Given the description of an element on the screen output the (x, y) to click on. 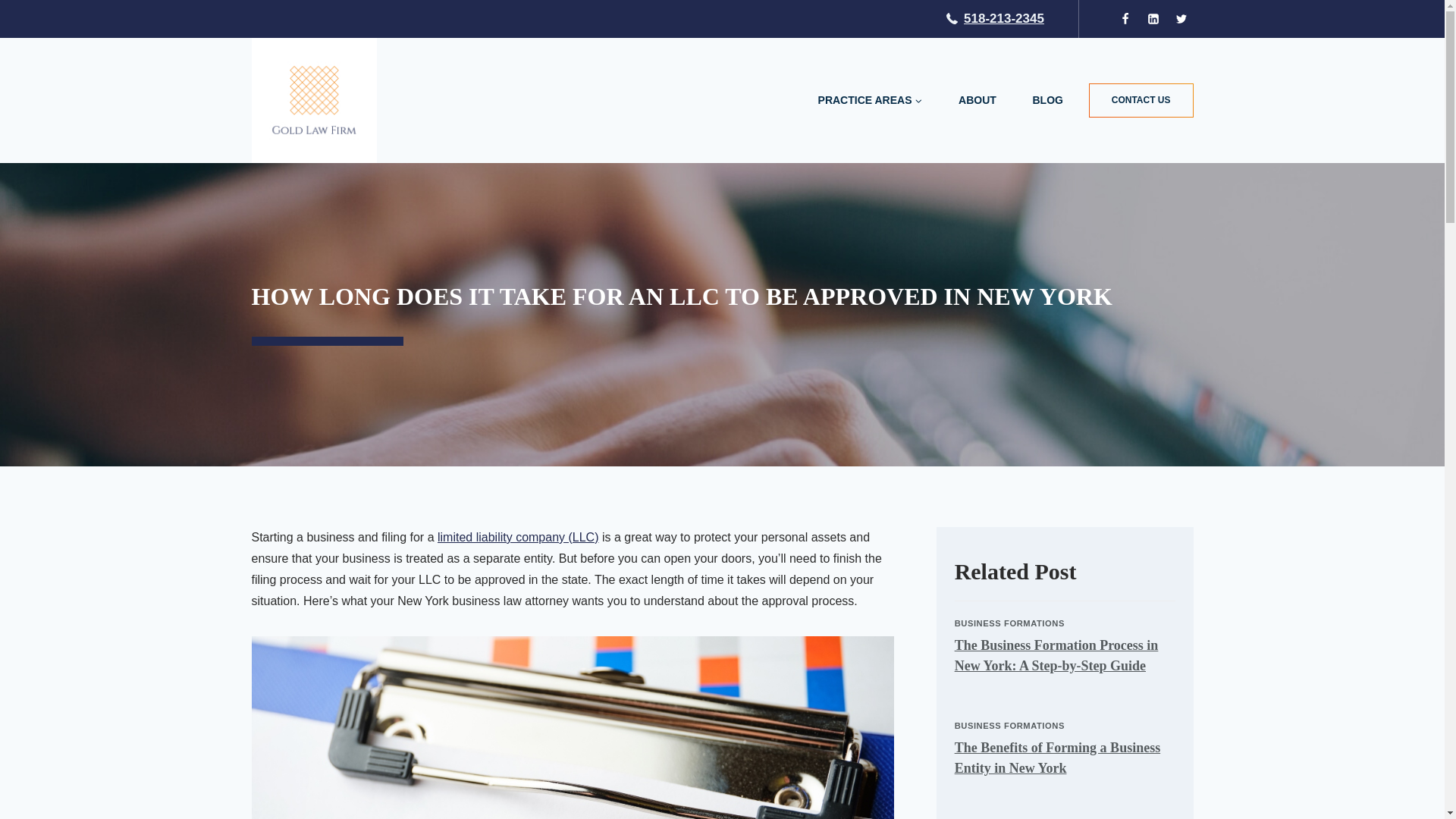
BUSINESS FORMATIONS (1009, 623)
The Benefits of Forming a Business Entity in New York (1057, 757)
PRACTICE AREAS (869, 99)
CONTACT US (1141, 100)
BUSINESS FORMATIONS (1009, 725)
518-213-2345 (994, 18)
